Given the description of an element on the screen output the (x, y) to click on. 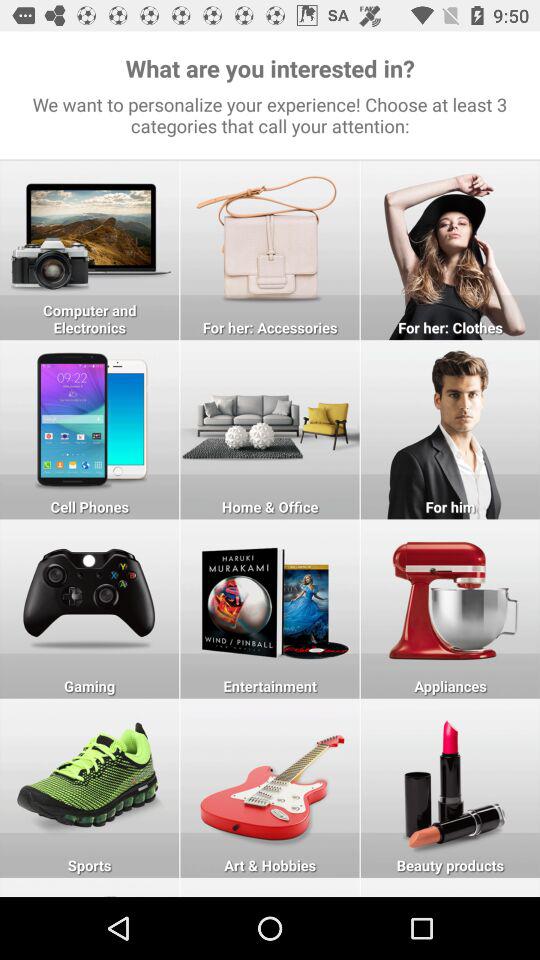
beauty product section (450, 787)
